Given the description of an element on the screen output the (x, y) to click on. 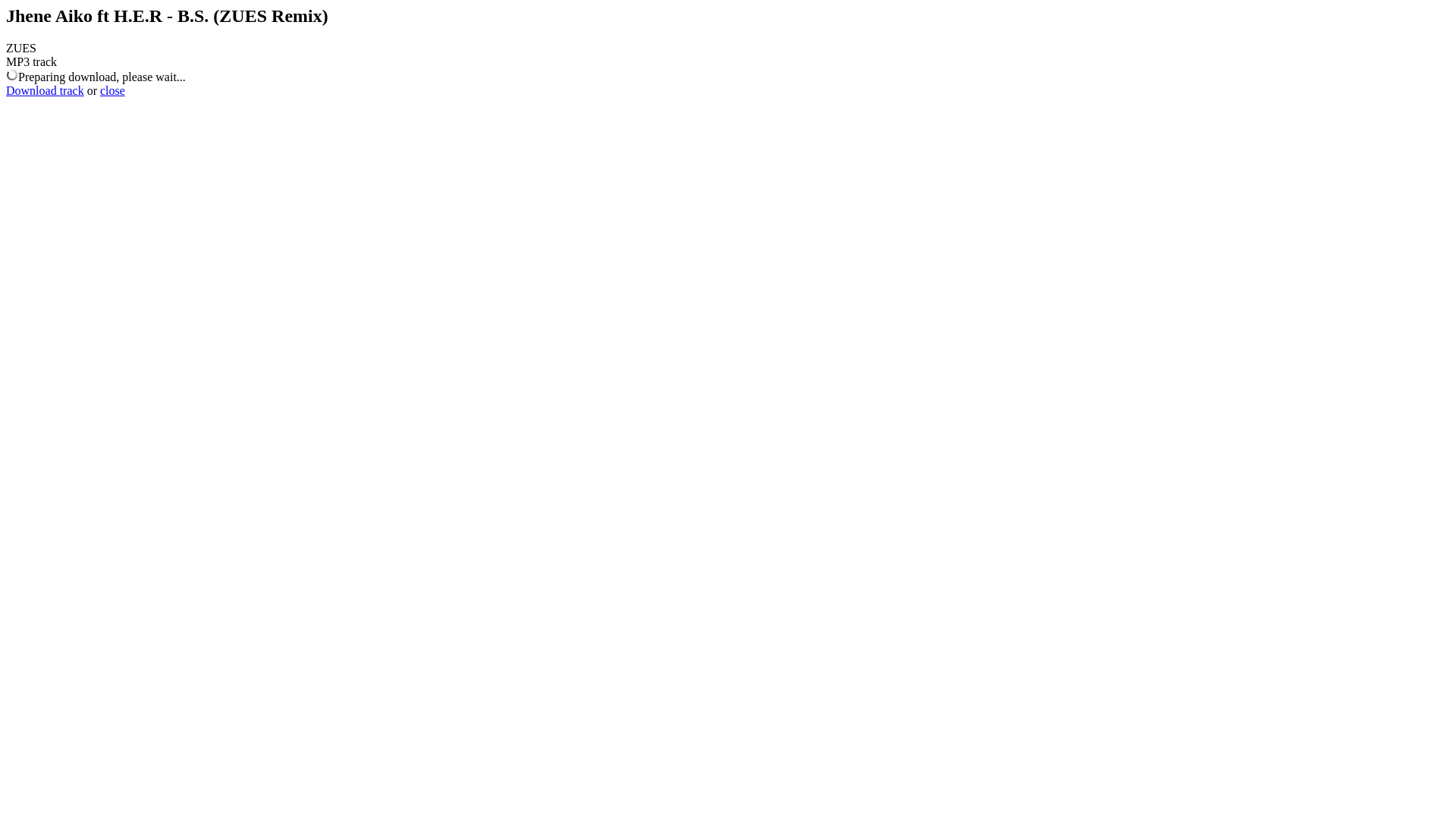
Download track Element type: text (45, 90)
close Element type: text (112, 90)
